Given the description of an element on the screen output the (x, y) to click on. 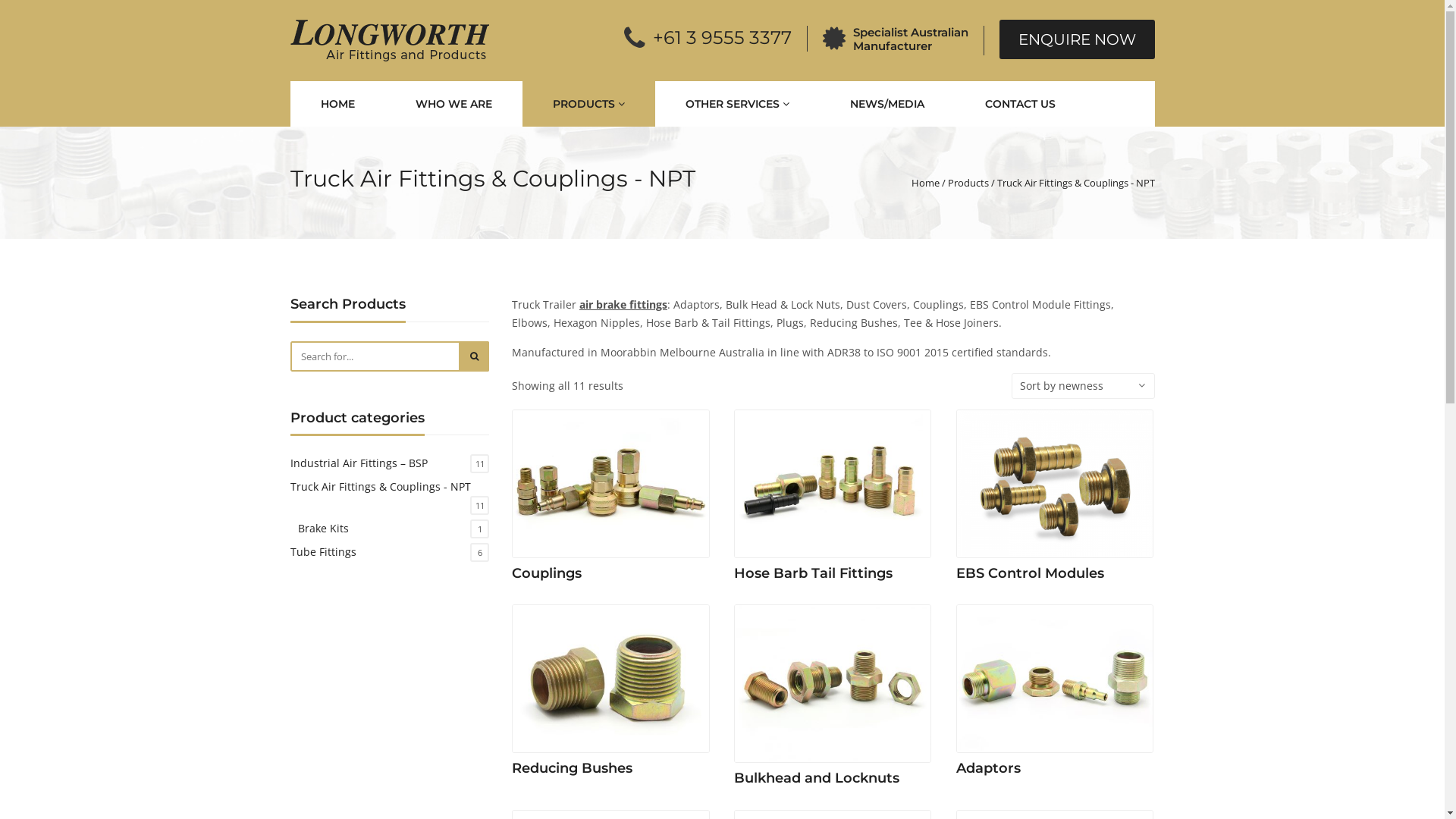
Home Element type: text (925, 182)
Reducing Bushes Element type: text (610, 693)
Bulkhead and Locknuts Element type: text (832, 698)
ENQUIRE NOW Element type: text (1076, 39)
EBS Control Modules Element type: text (1055, 498)
HOME Element type: text (336, 103)
Hose Barb Tail Fittings Element type: text (832, 498)
+61 3 9555 3377 Element type: text (721, 37)
PRODUCTS Element type: text (587, 103)
Adaptors Element type: text (1055, 693)
Brake Kits Element type: text (322, 528)
OTHER SERVICES Element type: text (737, 103)
Couplings Element type: text (610, 498)
Products Element type: text (967, 182)
NEWS/MEDIA Element type: text (886, 103)
Truck Air Fittings & Couplings - NPT Element type: text (379, 486)
Tube Fittings Element type: text (322, 551)
CONTACT US Element type: text (1019, 103)
WHO WE ARE Element type: text (453, 103)
